Given the description of an element on the screen output the (x, y) to click on. 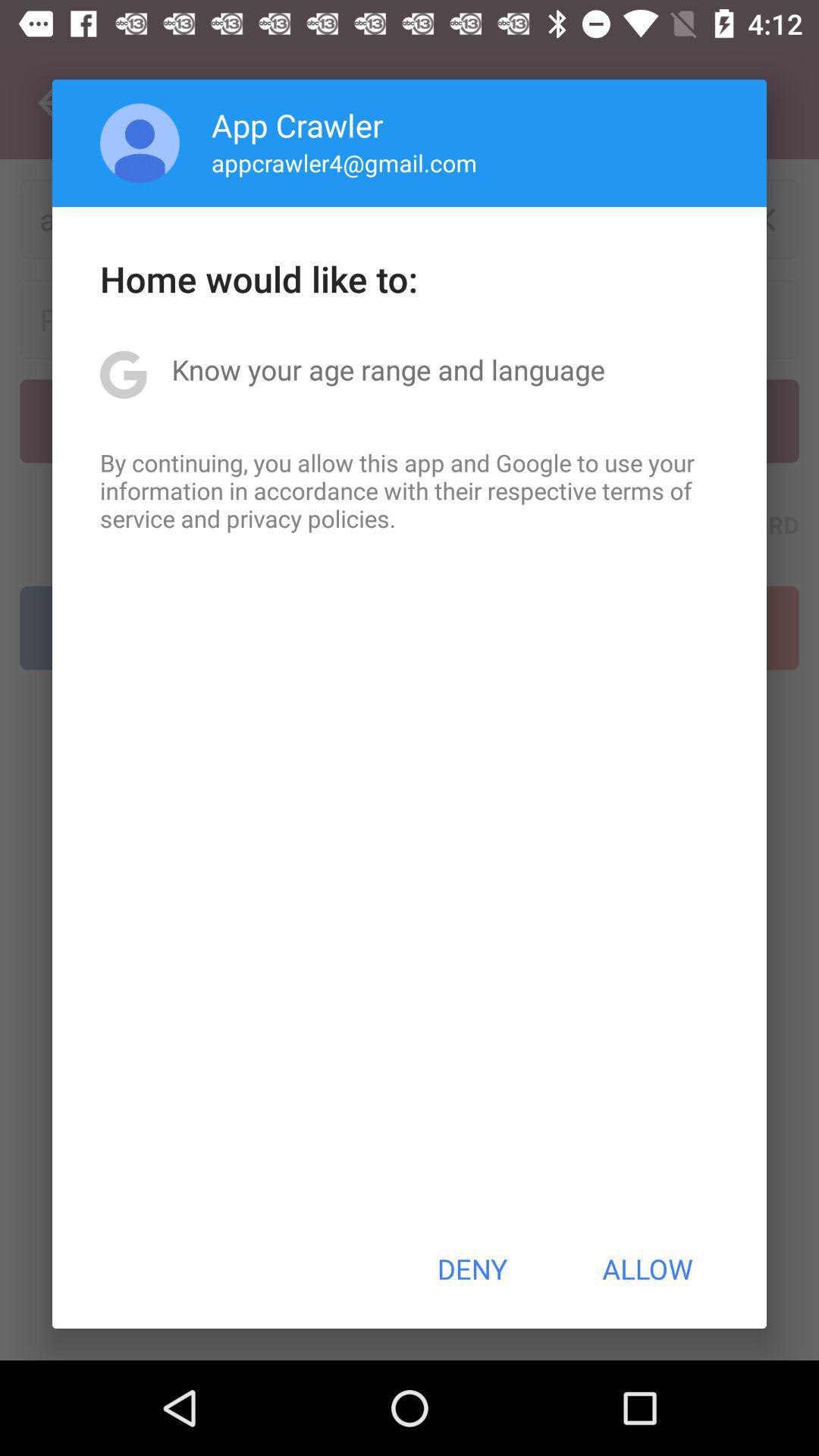
press button next to allow (471, 1268)
